Given the description of an element on the screen output the (x, y) to click on. 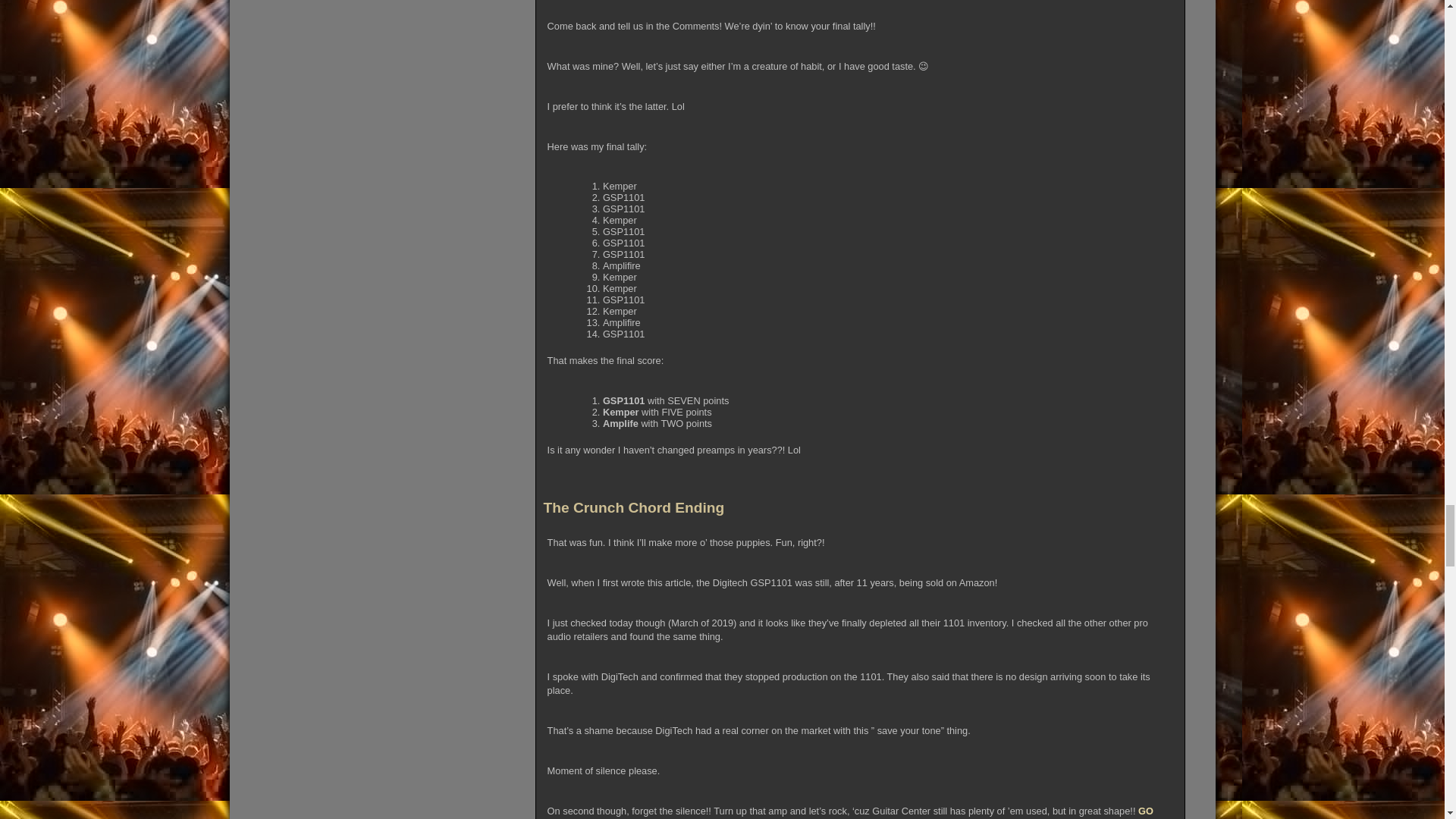
GO (1145, 810)
